Given the description of an element on the screen output the (x, y) to click on. 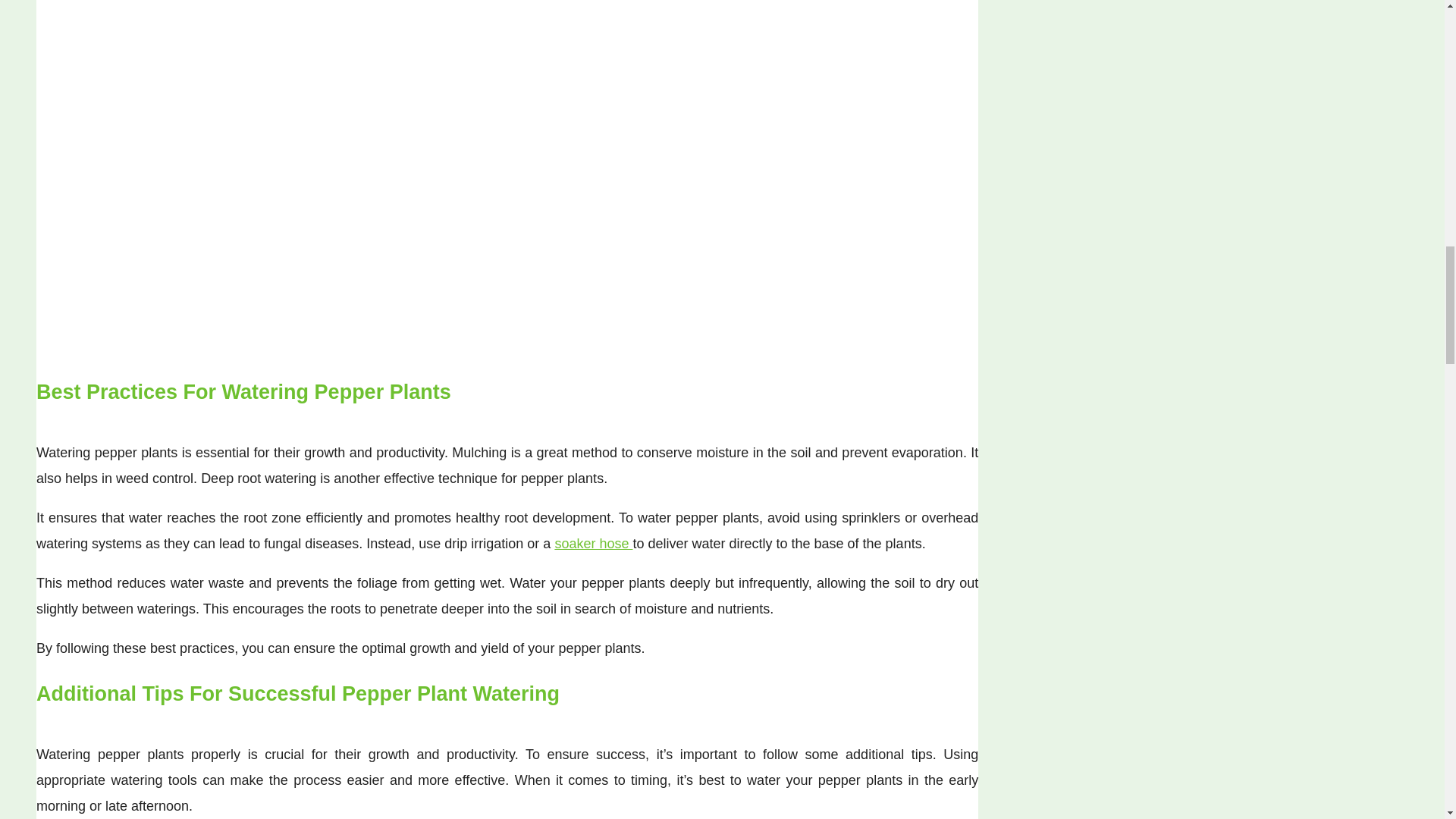
soaker hose (592, 543)
